Given the description of an element on the screen output the (x, y) to click on. 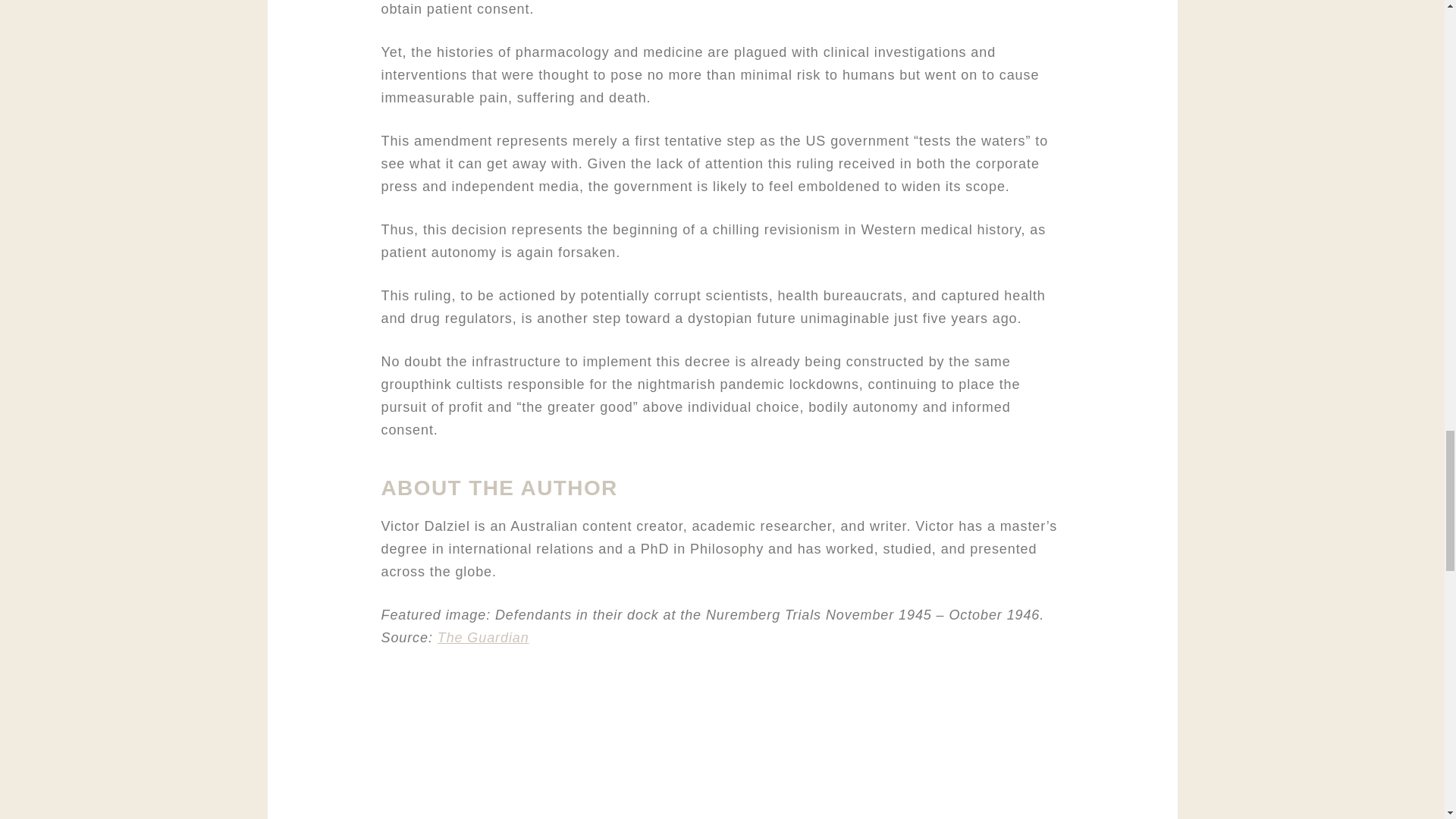
The Guardian (483, 637)
